Given the description of an element on the screen output the (x, y) to click on. 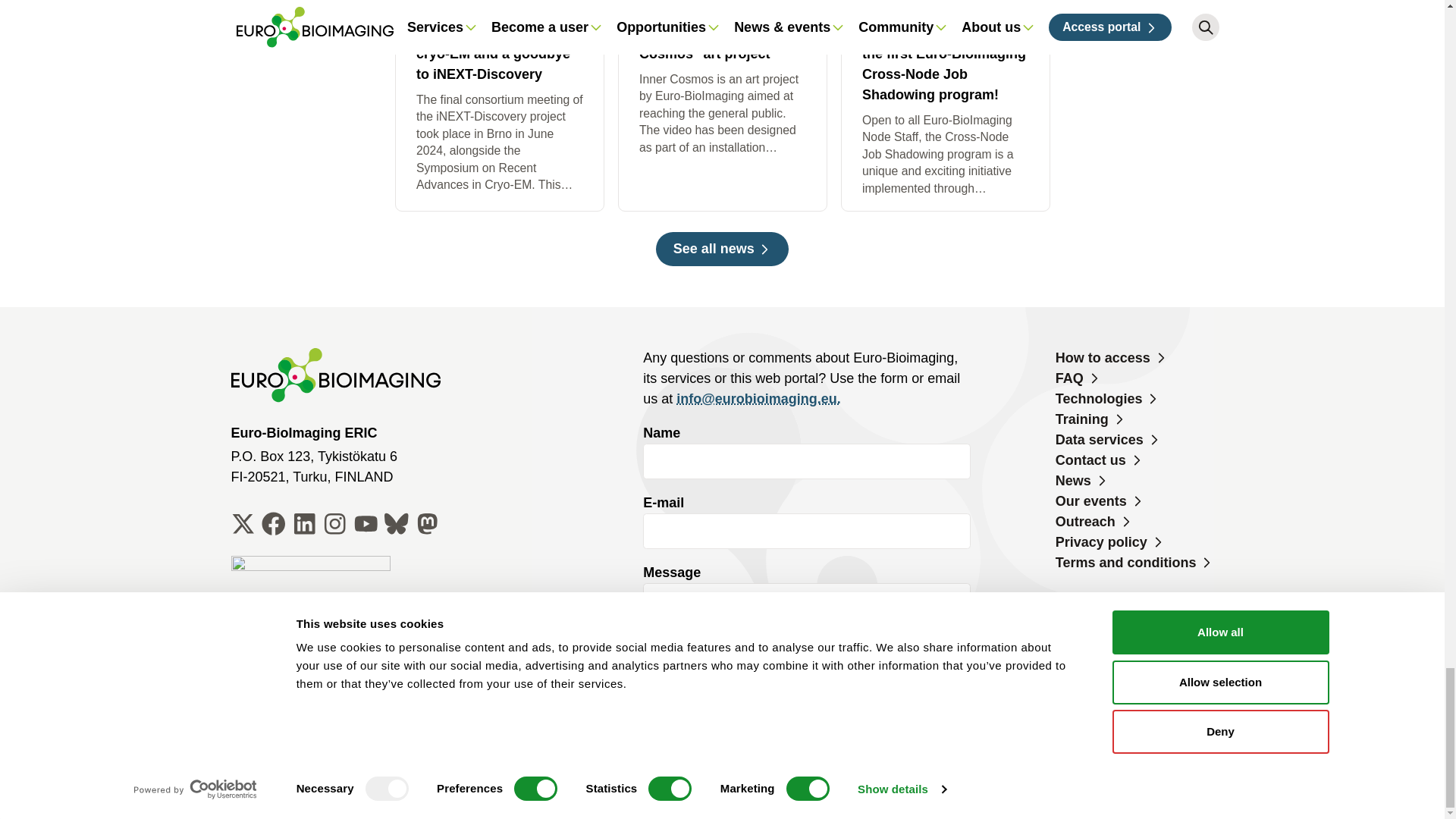
Submit (689, 748)
1 (649, 689)
